Given the description of an element on the screen output the (x, y) to click on. 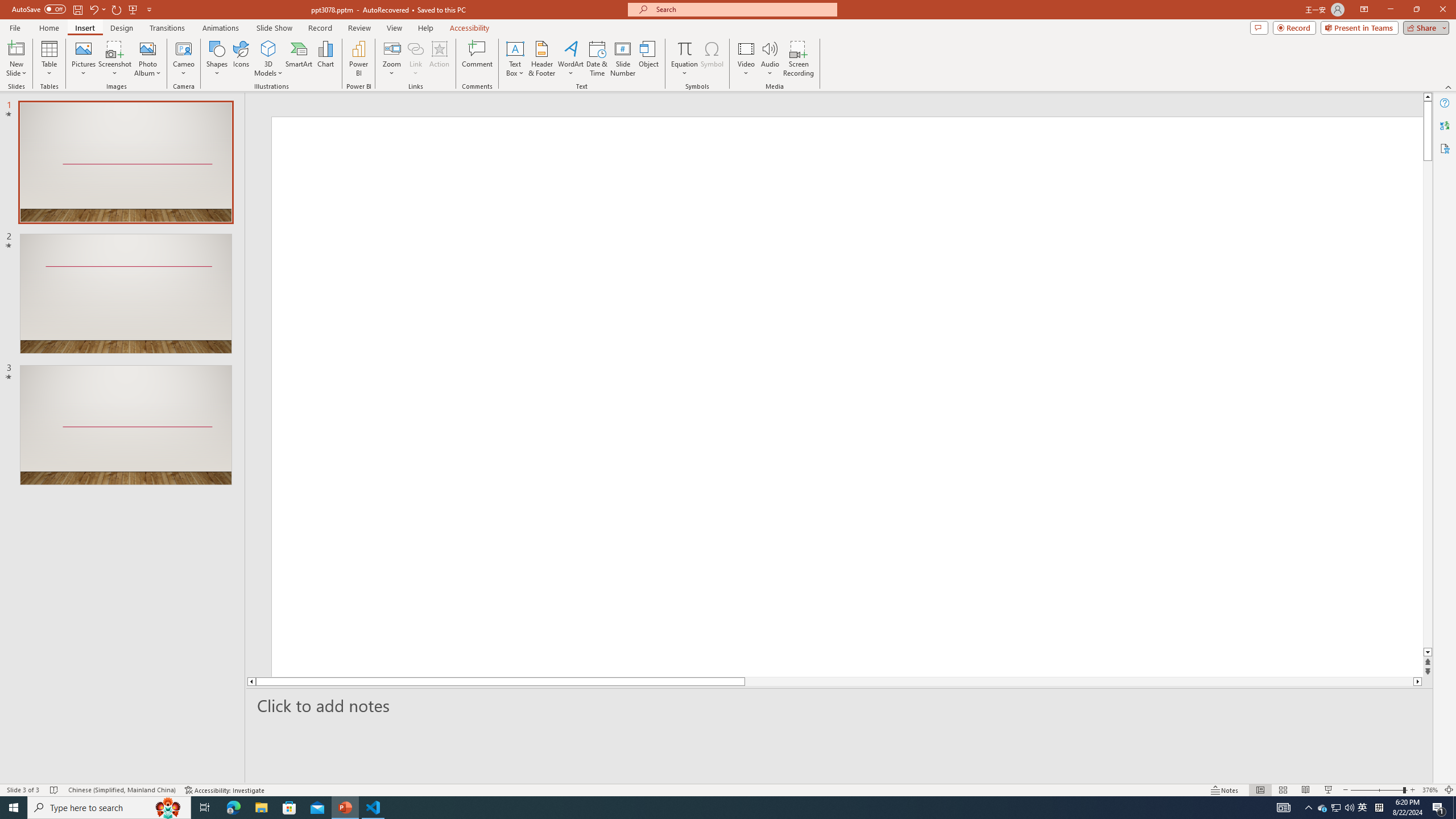
Object... (649, 58)
